Given the description of an element on the screen output the (x, y) to click on. 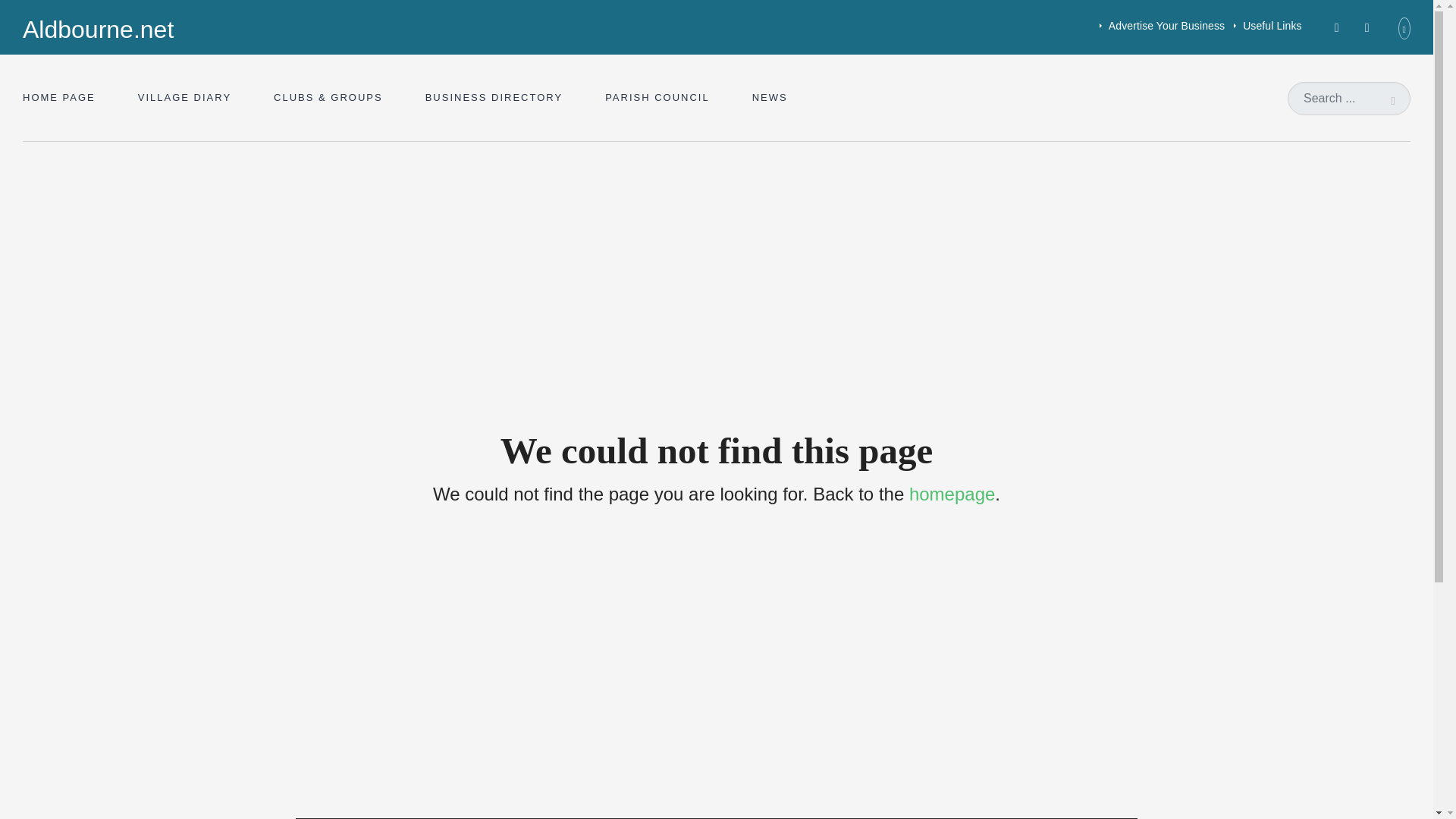
NEWS (769, 97)
HOME PAGE (63, 97)
Aldbourne.net (98, 29)
VILLAGE DIARY (183, 97)
PARISH COUNCIL (656, 97)
Home (98, 29)
Social item (1366, 27)
Useful Links (1271, 25)
Advertise Your Business (1166, 25)
BUSINESS DIRECTORY (493, 97)
